Given the description of an element on the screen output the (x, y) to click on. 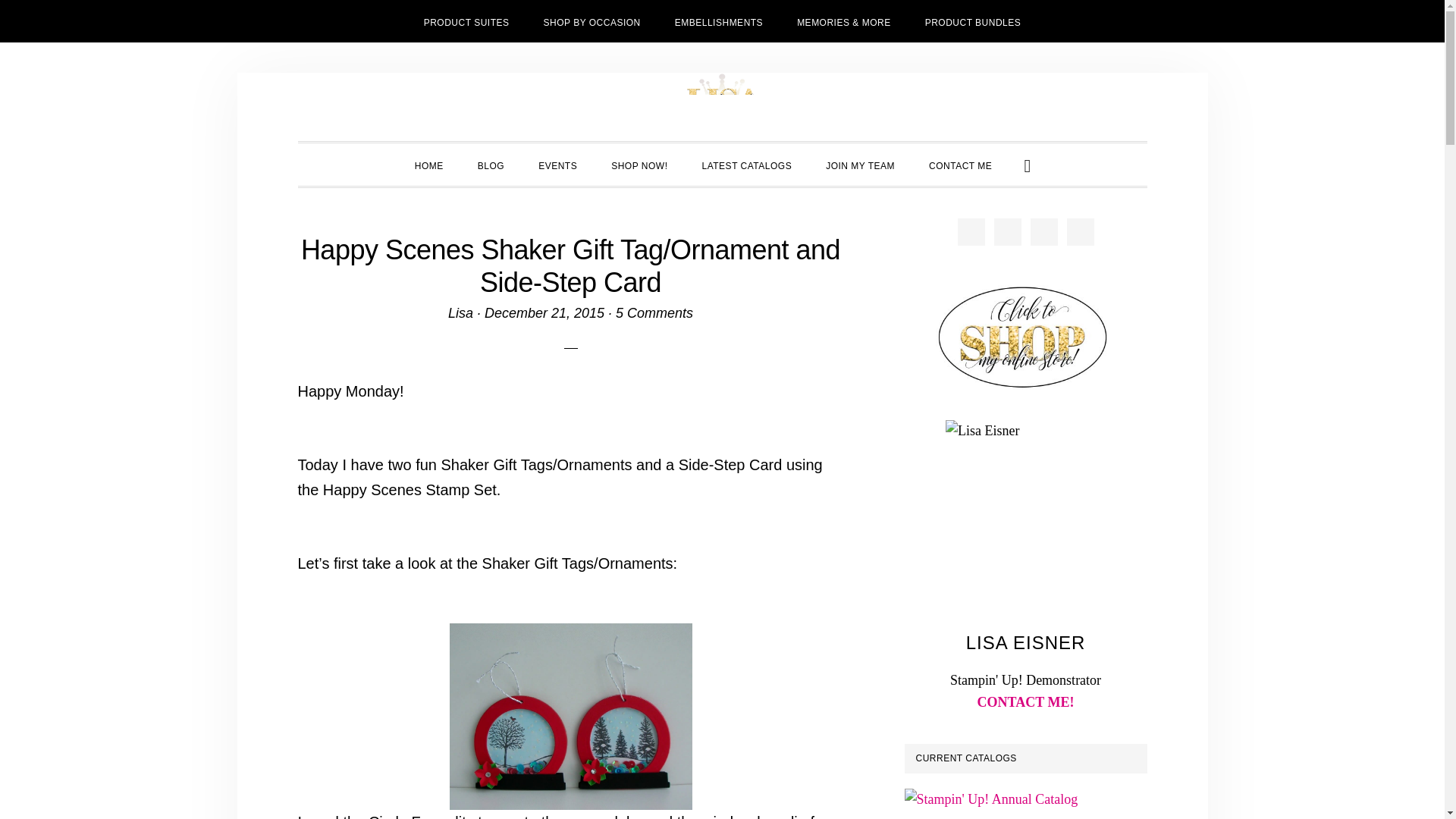
CONTACT ME (960, 164)
LISA EISNER - STAMPIN' UP! DEMONSTRATOR (721, 102)
HOME (428, 164)
SHOP NOW! (638, 164)
PRODUCT SUITES (466, 21)
EVENTS (557, 164)
SHOP BY OCCASION (591, 21)
EMBELLISHMENTS (718, 21)
PRODUCT BUNDLES (973, 21)
